Given the description of an element on the screen output the (x, y) to click on. 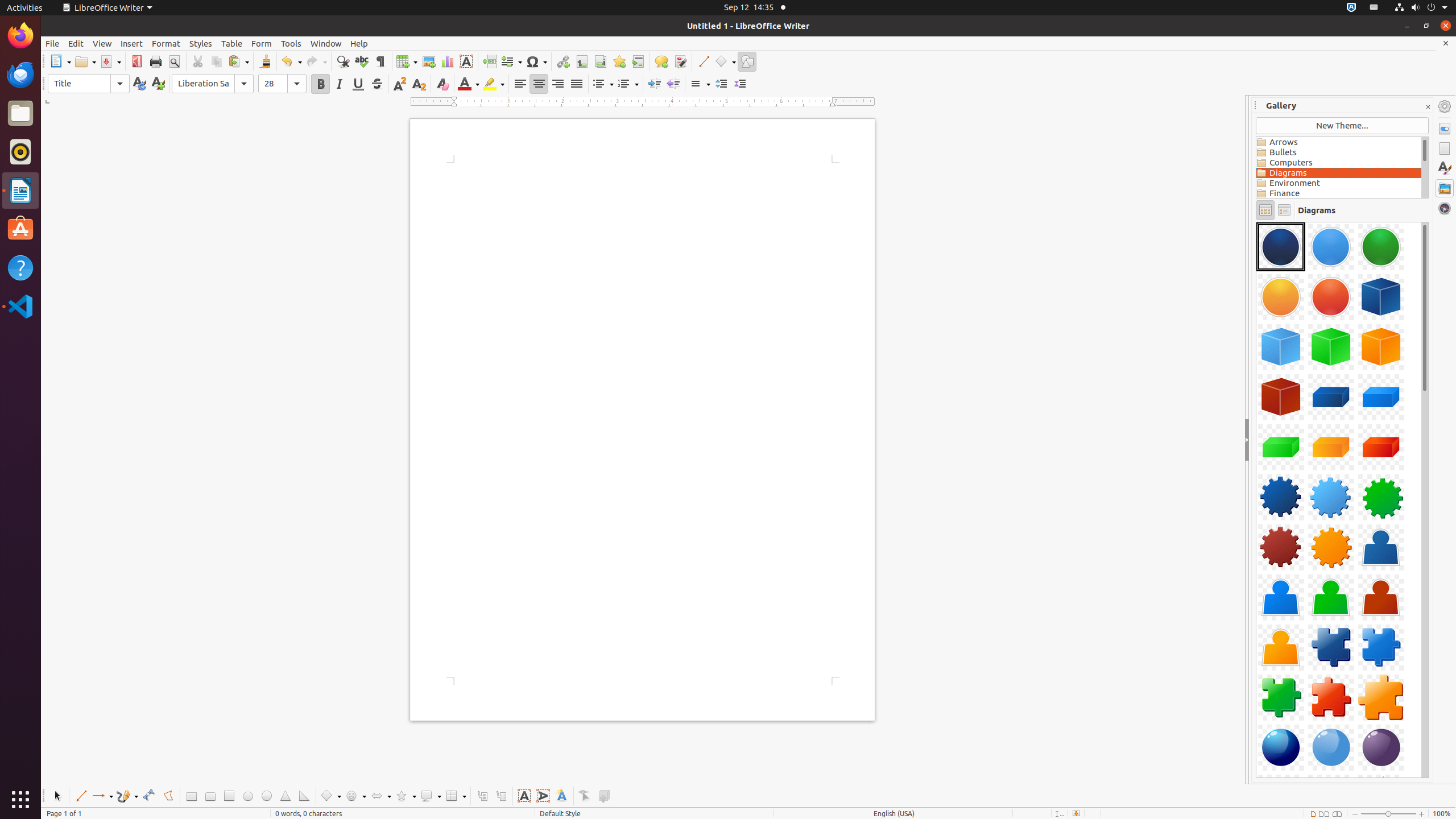
Paragraph Style Element type: combo-box (88, 83)
Line Spacing Element type: push-button (699, 83)
Bold Element type: toggle-button (320, 83)
Ellipse Element type: push-button (247, 795)
Numbering Element type: push-button (627, 83)
